Given the description of an element on the screen output the (x, y) to click on. 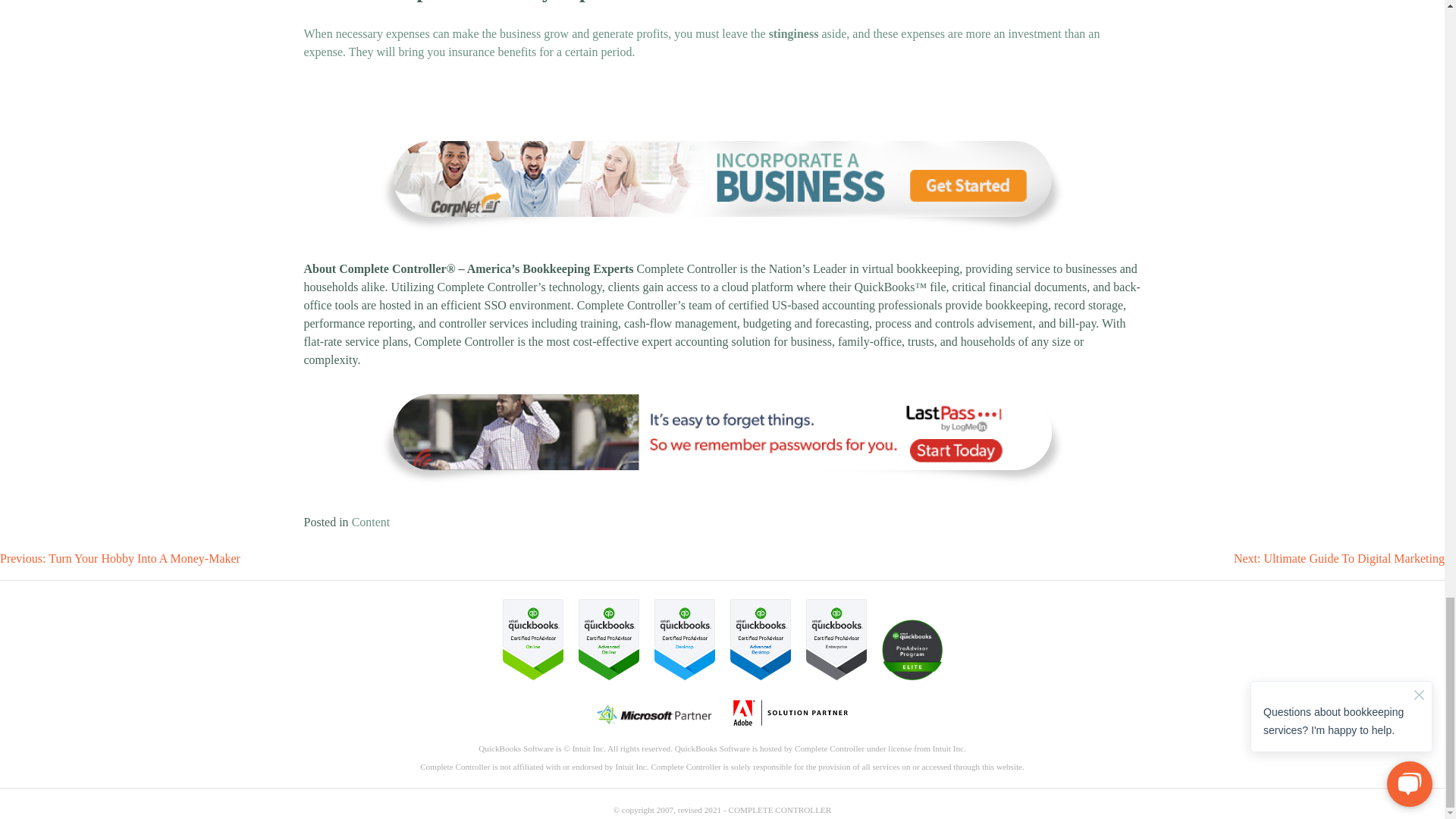
Content (371, 521)
Previous: Turn Your Hobby Into A Money-Maker (120, 558)
